Given the description of an element on the screen output the (x, y) to click on. 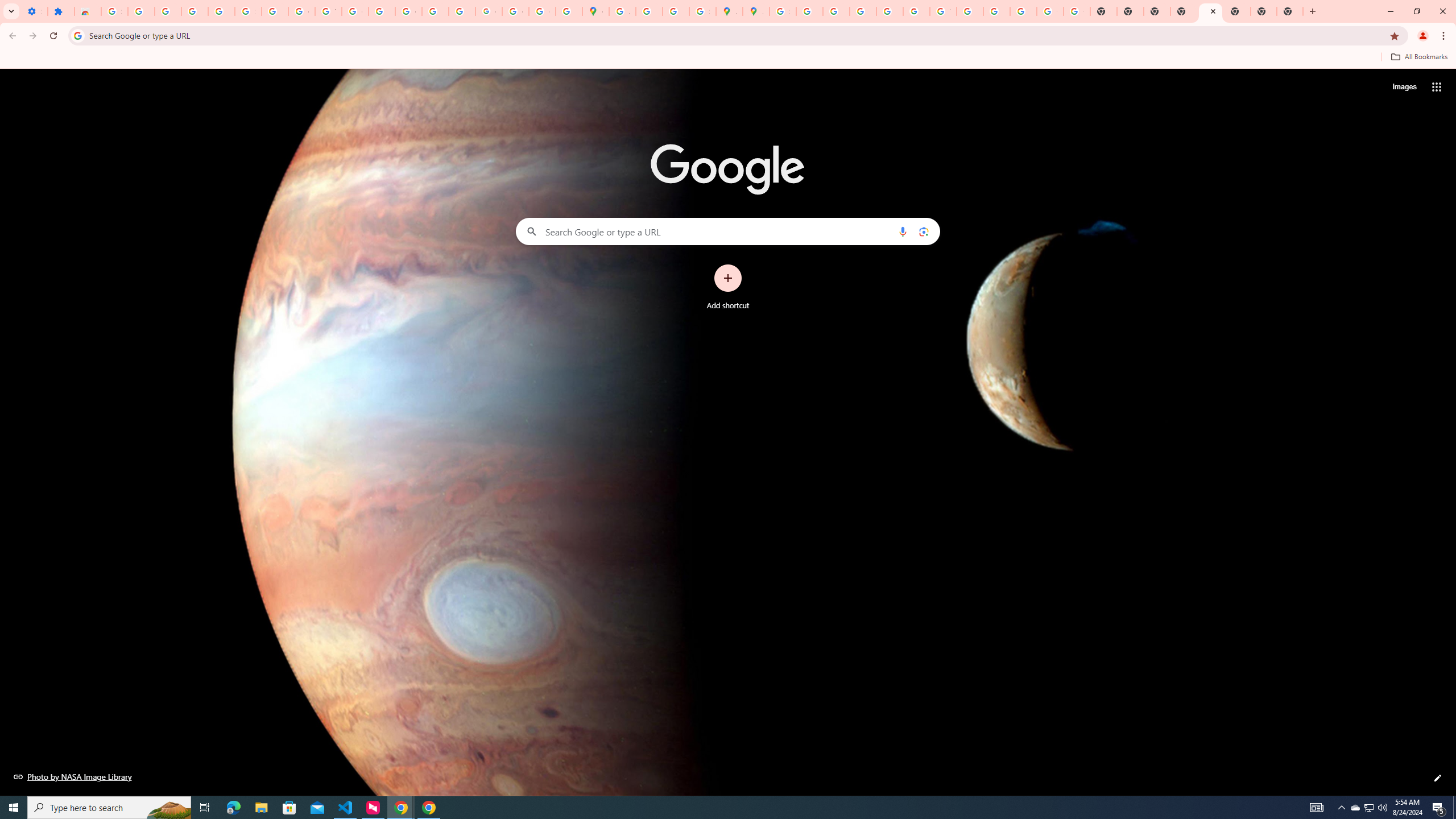
Google Maps (595, 11)
YouTube (943, 11)
Reviews: Helix Fruit Jump Arcade Game (87, 11)
